Given the description of an element on the screen output the (x, y) to click on. 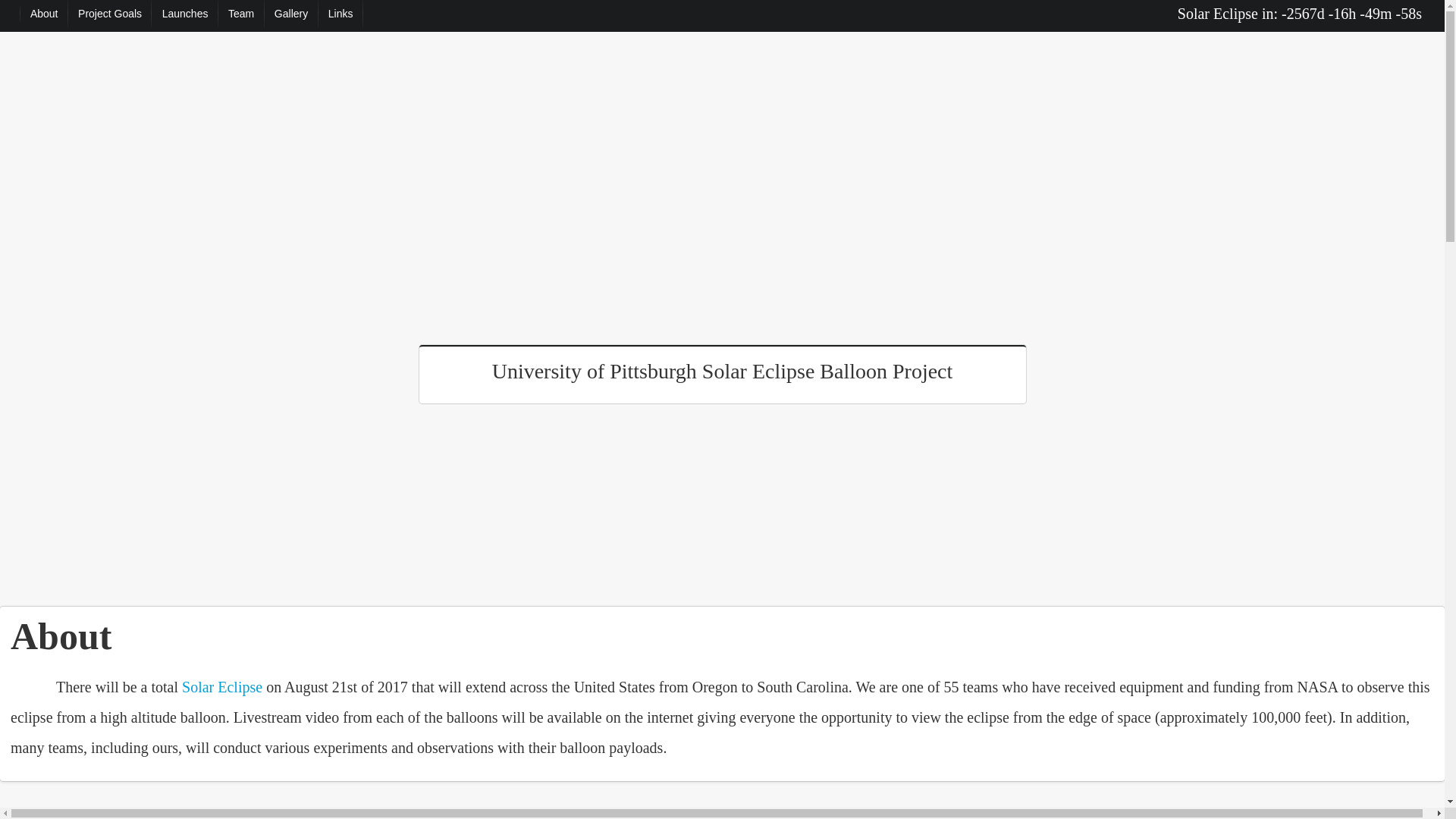
Project Goals (110, 13)
Gallery (291, 13)
Launches (183, 13)
About (44, 13)
Links (340, 13)
Solar Eclipse (222, 686)
Team (241, 13)
